Given the description of an element on the screen output the (x, y) to click on. 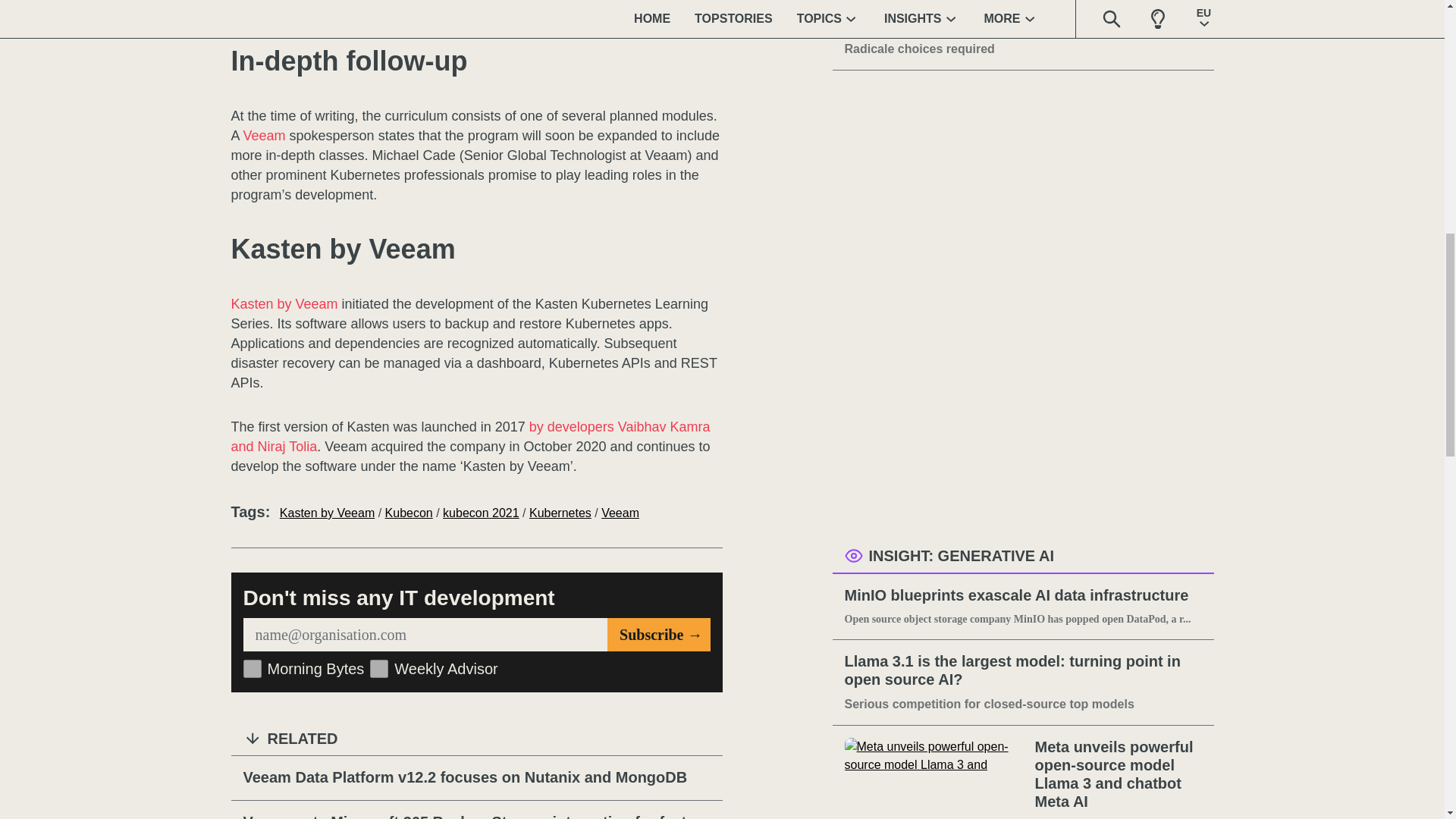
84623970802861205 (251, 669)
84623981521405447 (378, 669)
Veeam Data Platform v12.2 focuses on Nutanix and MongoDB (476, 777)
Will Intel split itself up after all? (1023, 25)
